Given the description of an element on the screen output the (x, y) to click on. 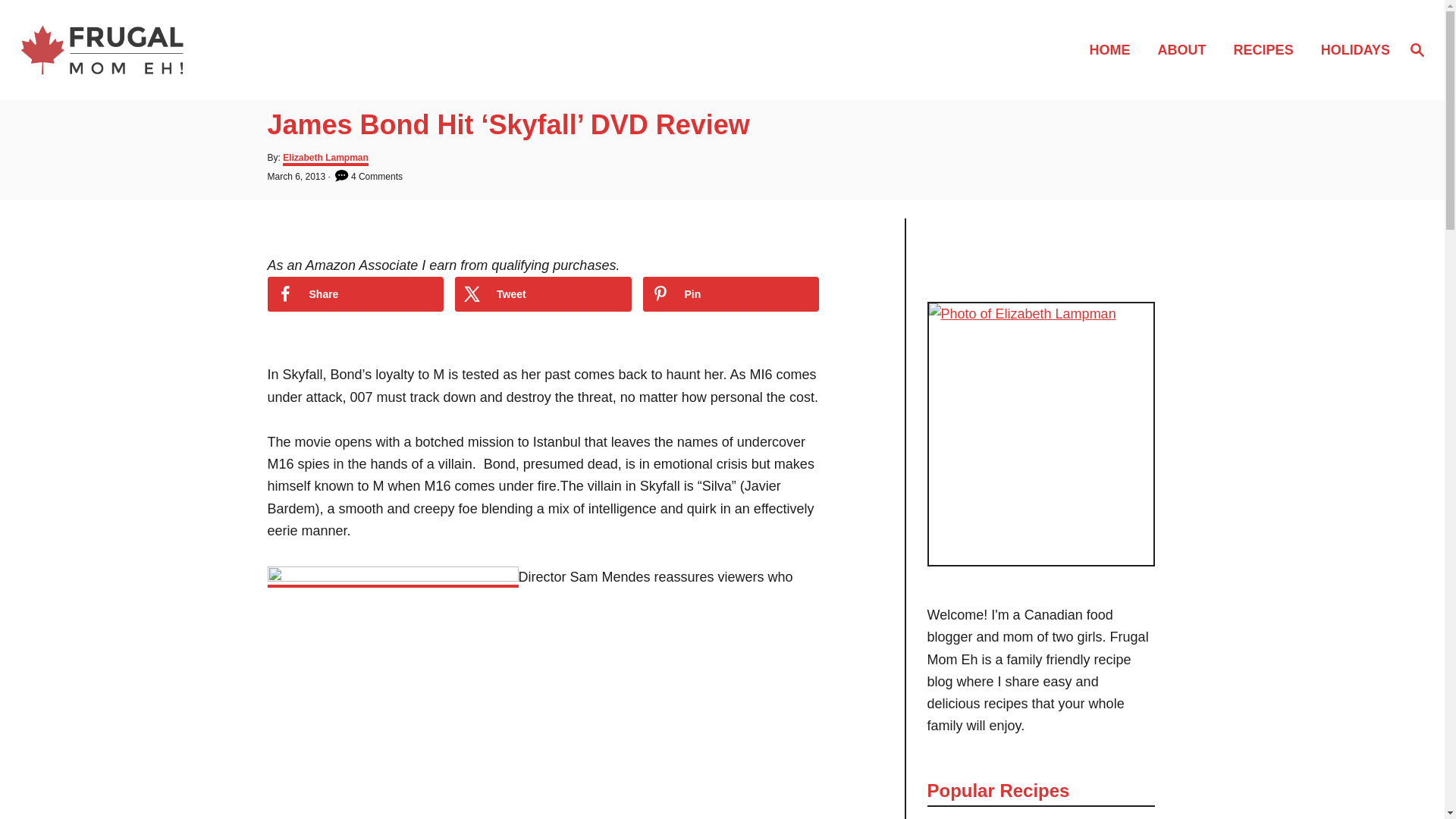
Share (355, 294)
Tweet (542, 294)
RECIPES (1267, 49)
Frugal Mom Eh! (187, 49)
Share on Facebook (355, 294)
Share on X (542, 294)
Elizabeth Lampman (325, 159)
Save to Pinterest (731, 294)
ABOUT (1186, 49)
HOME (1114, 49)
